Given the description of an element on the screen output the (x, y) to click on. 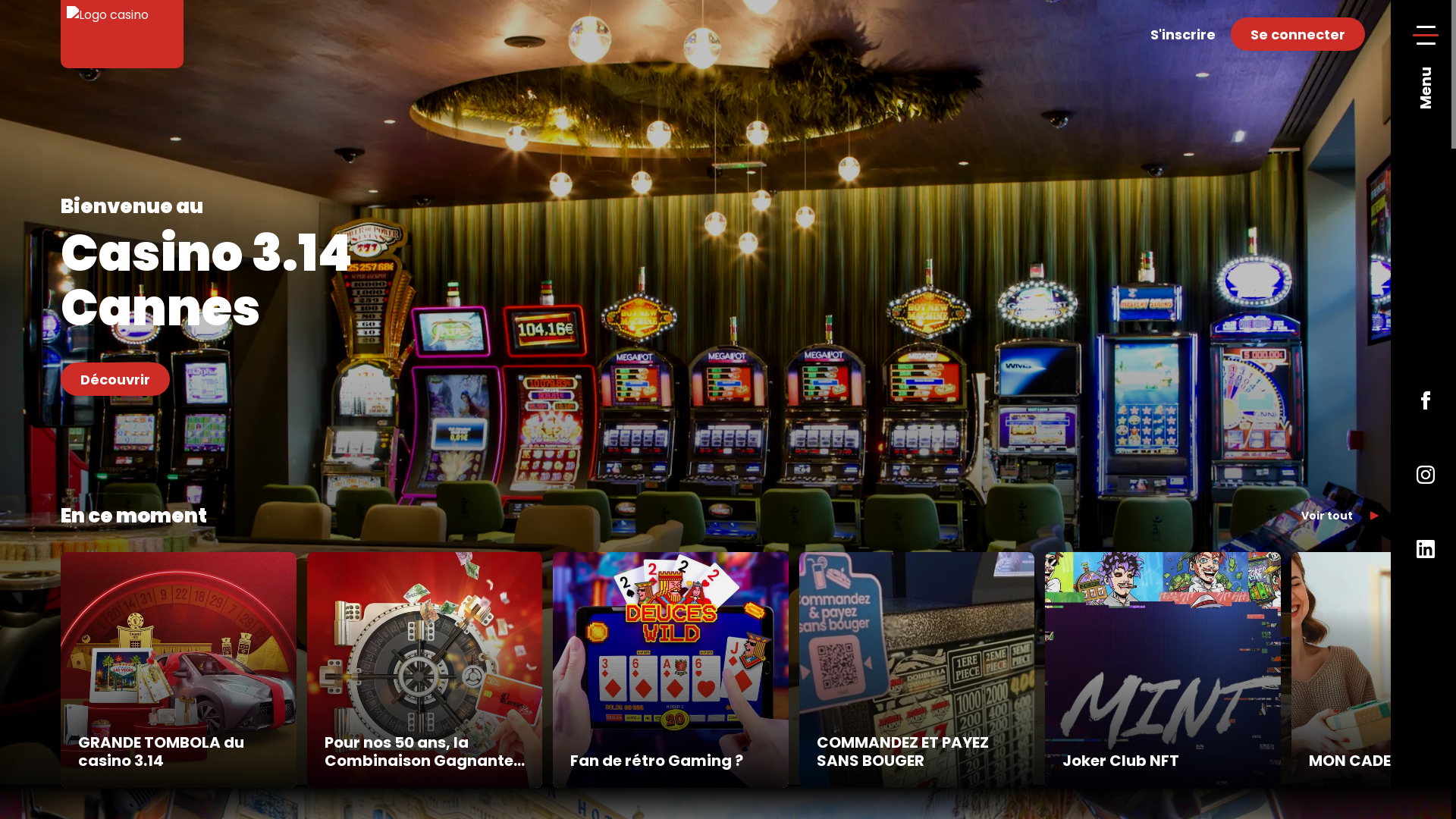
Joker Club NFT Element type: text (1162, 669)
Se connecter Element type: text (1297, 33)
COMMANDEZ ET PAYEZ SANS BOUGER Element type: text (917, 669)
S'inscrire Element type: text (1182, 33)
Voir tout Element type: text (1340, 515)
GRANDE TOMBOLA du casino 3.14 Element type: text (178, 669)
